Given the description of an element on the screen output the (x, y) to click on. 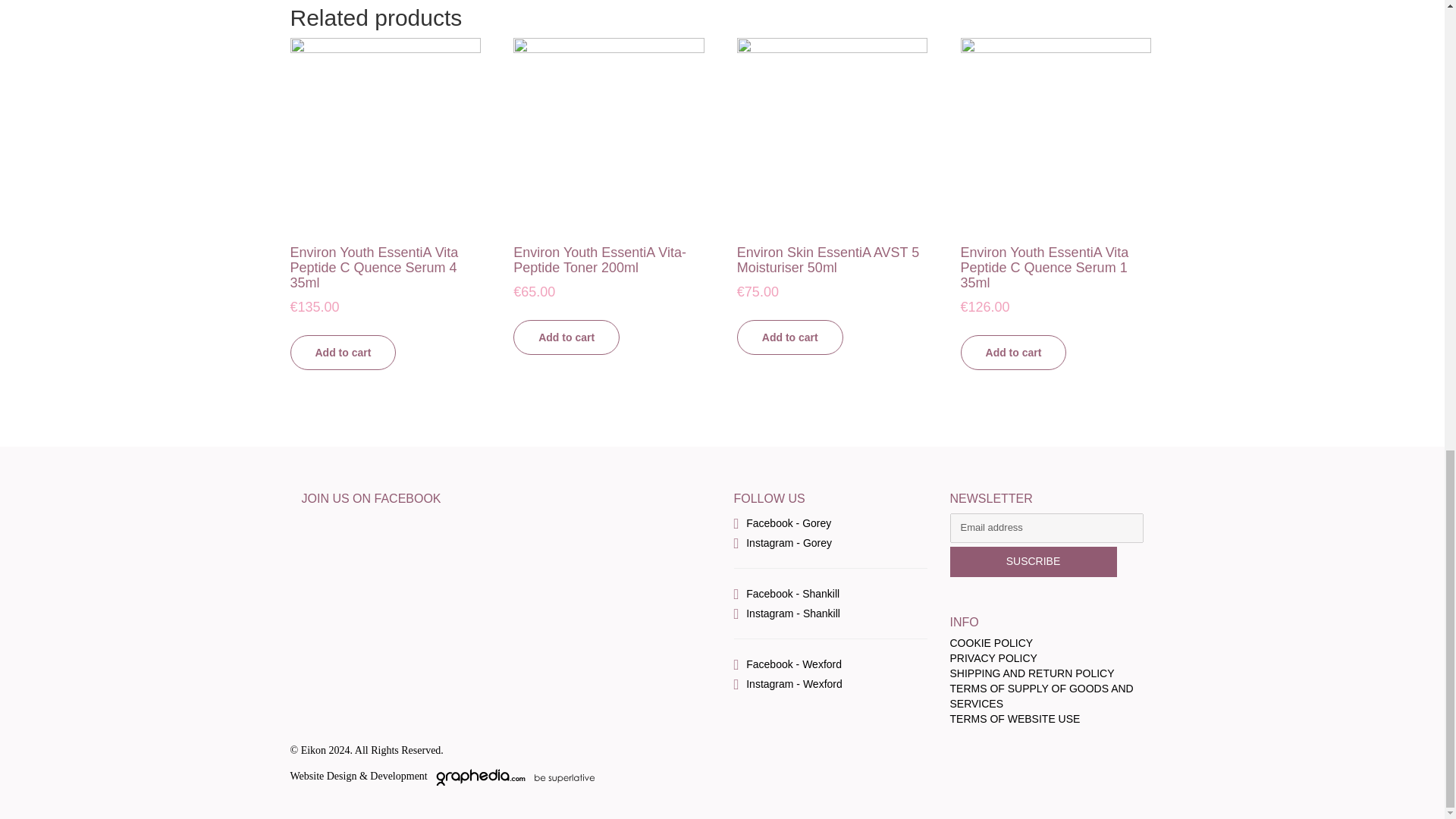
Suscribe (1032, 562)
